Given the description of an element on the screen output the (x, y) to click on. 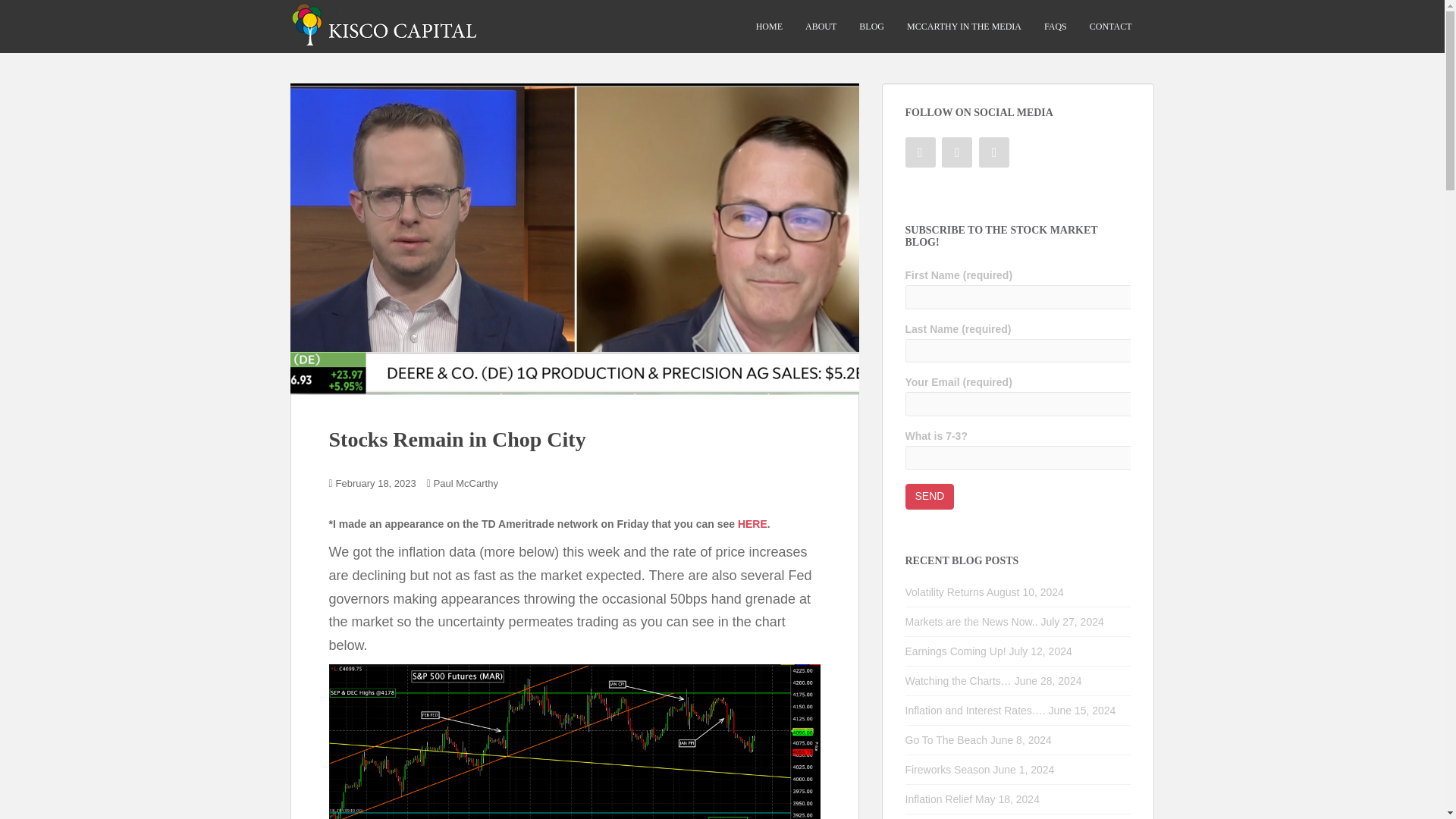
HERE (752, 523)
Earnings Coming Up! (955, 651)
Markets are the News Now.. (971, 621)
February 18, 2023 (376, 482)
HERE (752, 523)
ABOUT (820, 26)
CONTACT (1110, 26)
Volatility Returns (944, 592)
Fireworks Season (947, 769)
MCCARTHY IN THE MEDIA (964, 26)
